Given the description of an element on the screen output the (x, y) to click on. 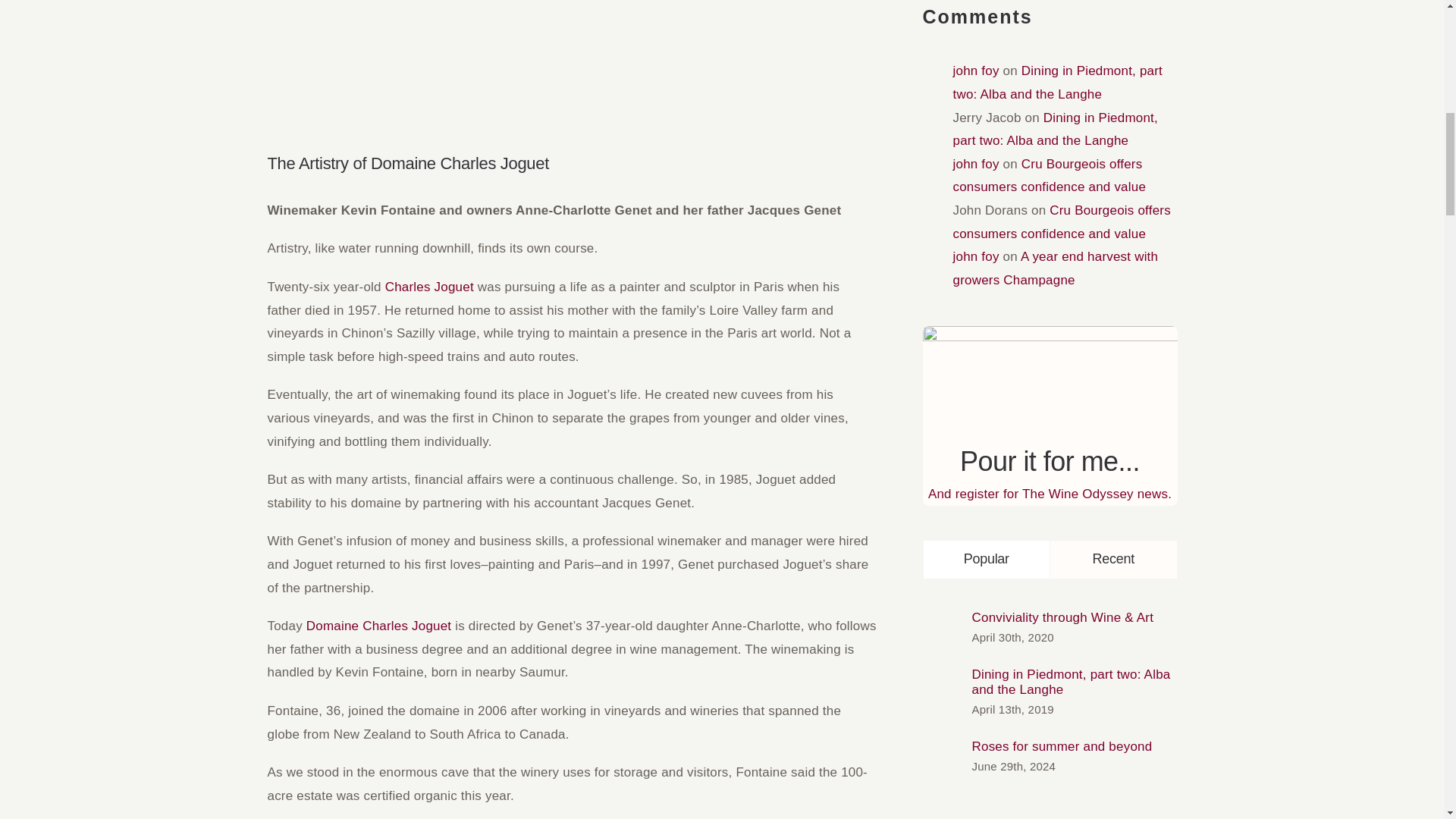
Domaine Charles Joguet (379, 626)
Charles Joguet (431, 287)
View Larger Image (571, 52)
